Given the description of an element on the screen output the (x, y) to click on. 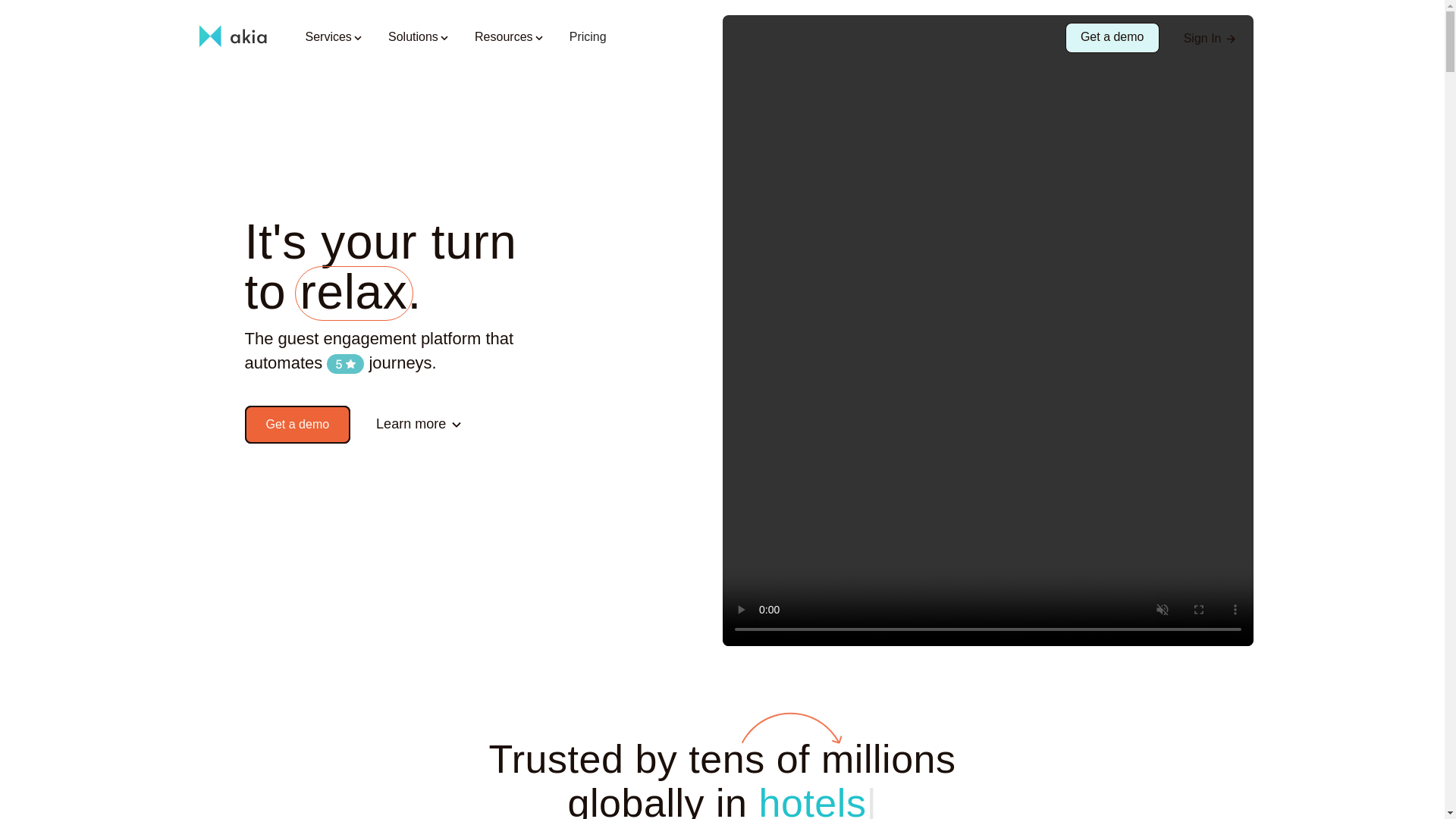
Learn more (419, 424)
Get a demo (1111, 37)
Sign In (1210, 37)
Get a demo (297, 424)
Pricing (588, 38)
